Given the description of an element on the screen output the (x, y) to click on. 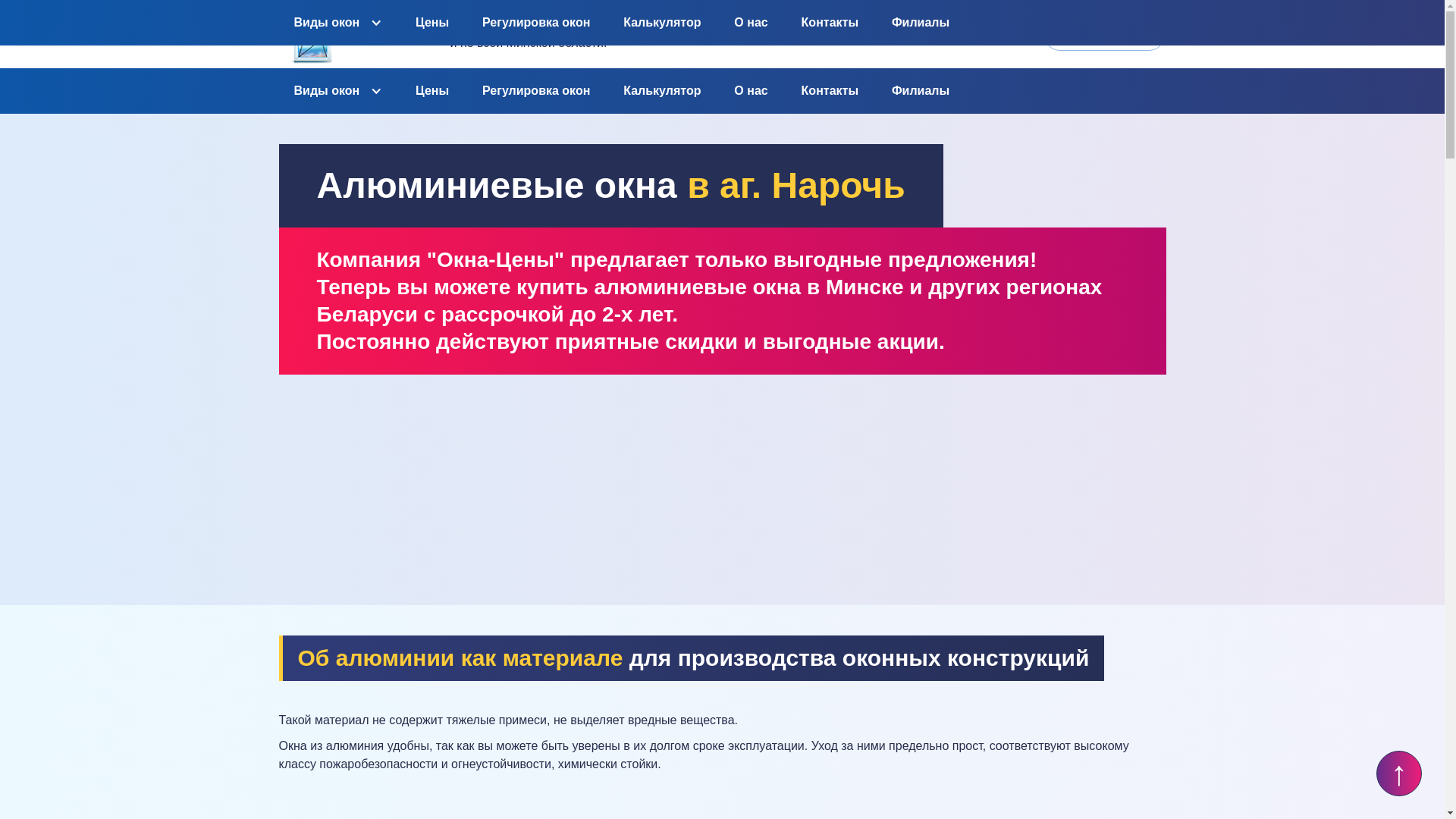
8 (029) 678 34 99 Element type: text (857, 33)
